Given the description of an element on the screen output the (x, y) to click on. 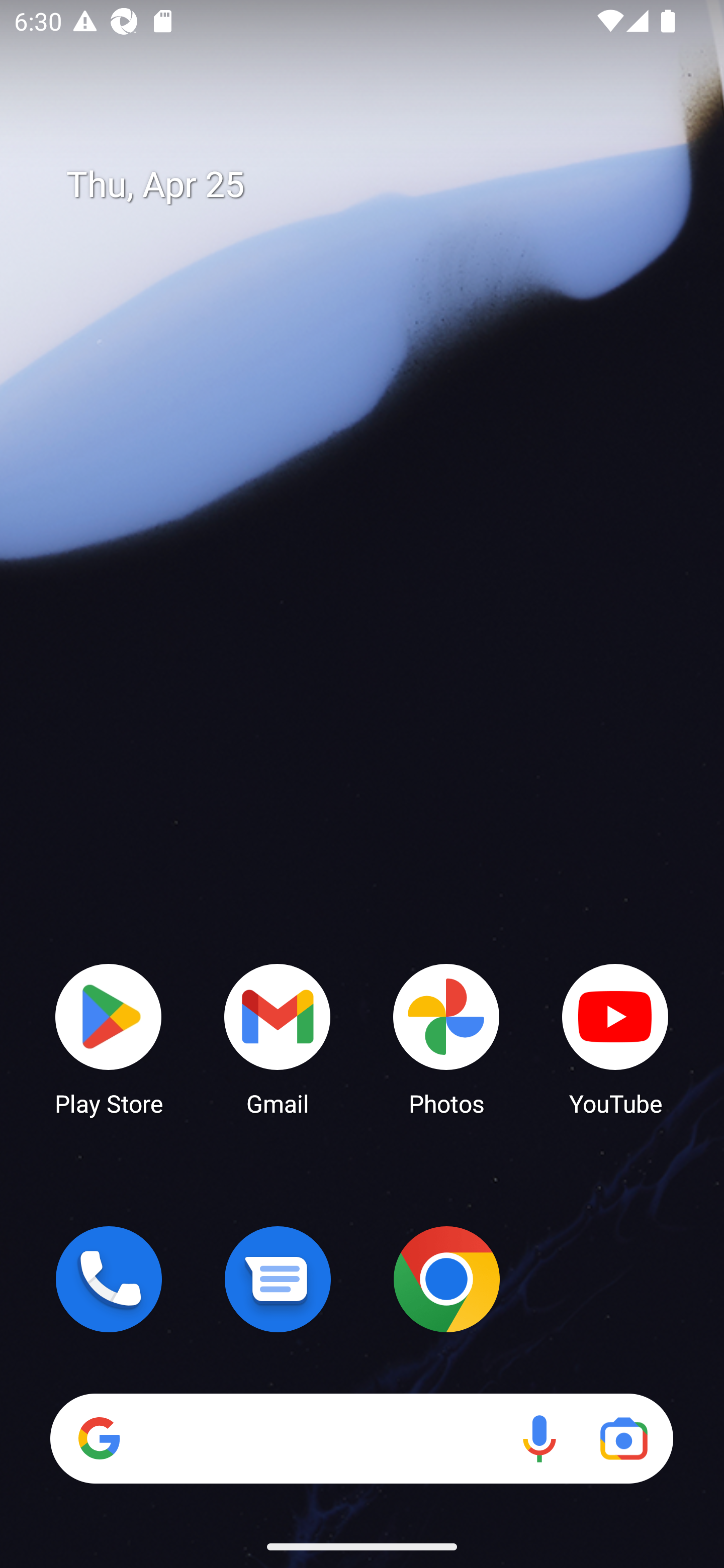
Thu, Apr 25 (375, 184)
Play Store (108, 1038)
Gmail (277, 1038)
Photos (445, 1038)
YouTube (615, 1038)
Phone (108, 1279)
Messages (277, 1279)
Chrome (446, 1279)
Search Voice search Google Lens (361, 1438)
Voice search (539, 1438)
Google Lens (623, 1438)
